Given the description of an element on the screen output the (x, y) to click on. 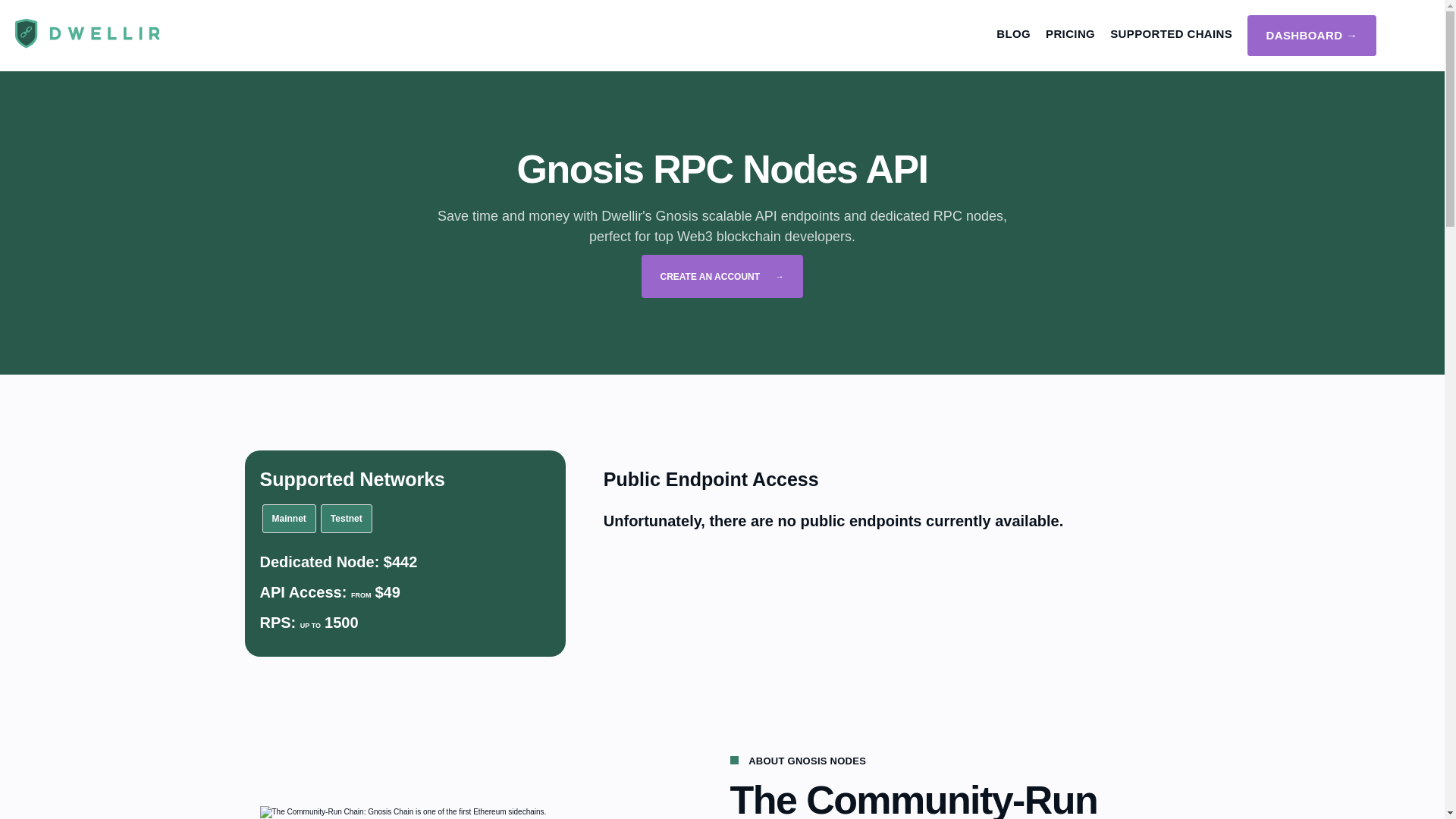
PRICING (1069, 33)
SUPPORTED CHAINS (1170, 33)
BLOG (1012, 33)
